Given the description of an element on the screen output the (x, y) to click on. 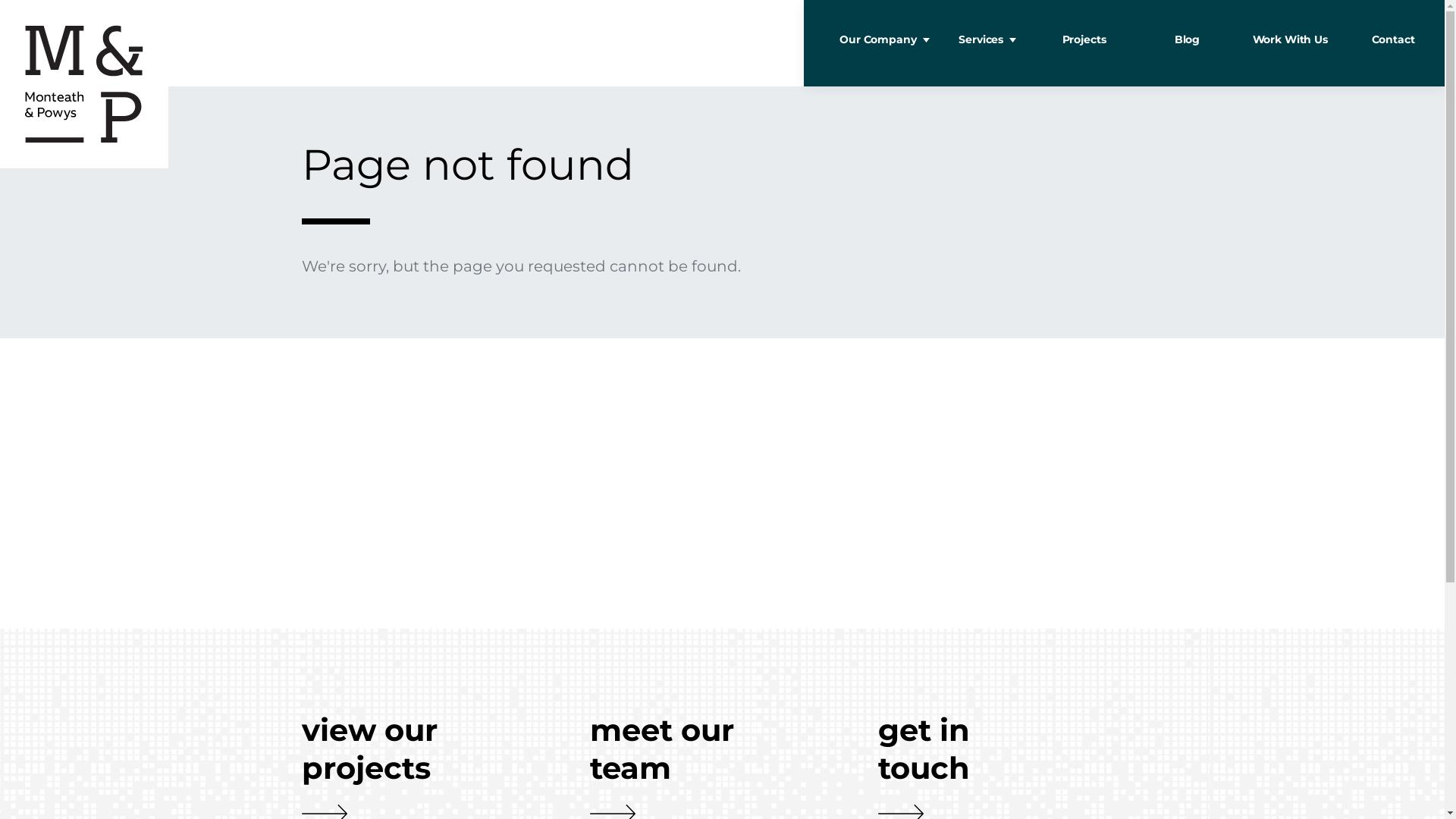
Blog Element type: text (1186, 43)
meet our team Element type: text (665, 749)
view our projects Element type: text (377, 749)
Projects Element type: text (1083, 43)
get in touch Element type: text (953, 749)
Work With Us Element type: text (1289, 43)
Created with Lunacy Element type: text (84, 84)
Services Element type: text (980, 43)
Our Company Element type: text (877, 43)
Contact Element type: text (1392, 43)
